Given the description of an element on the screen output the (x, y) to click on. 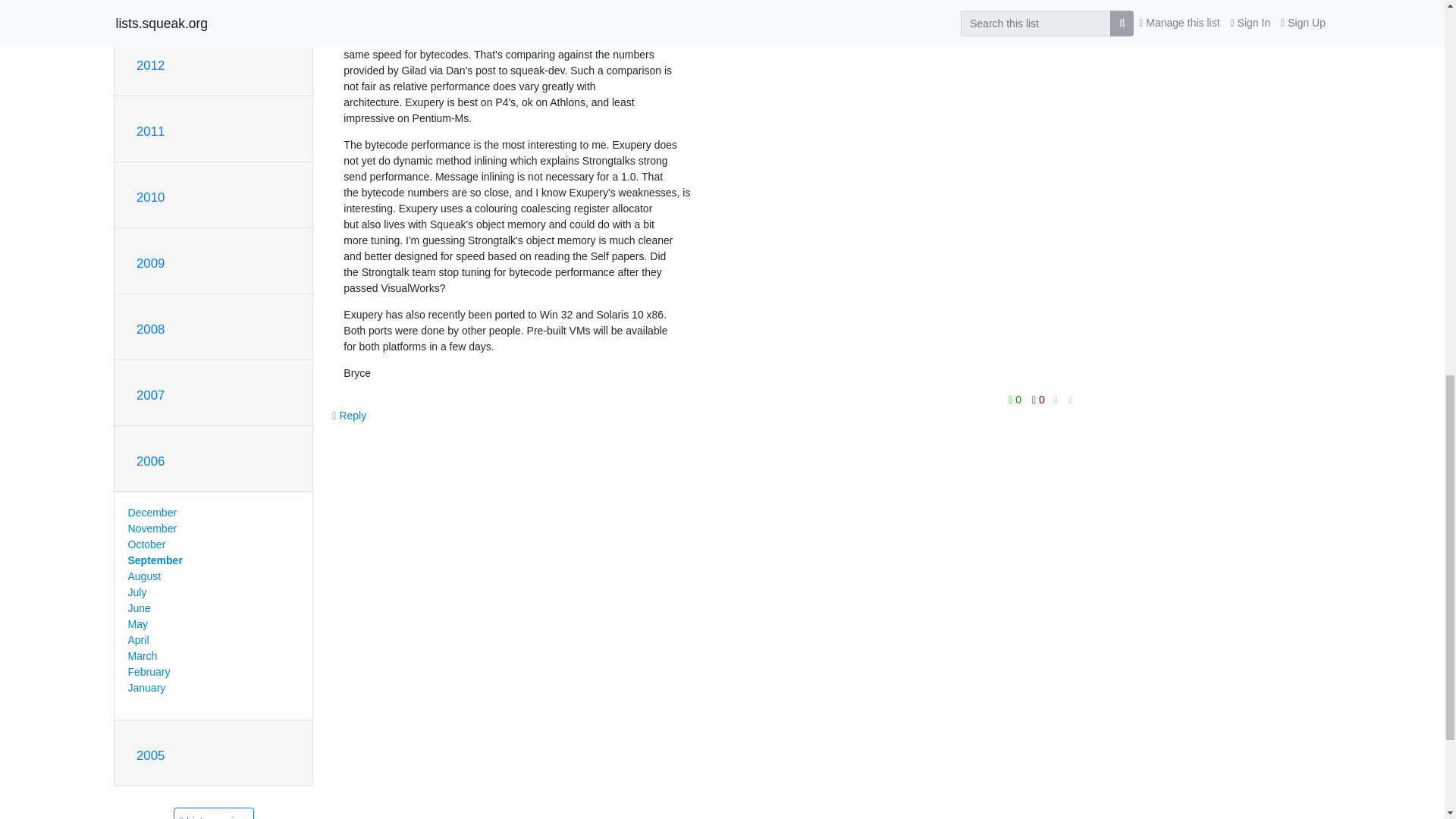
You must be logged-in to vote. (1037, 399)
You must be logged-in to vote. (1015, 399)
Sign in to reply online (349, 415)
